Given the description of an element on the screen output the (x, y) to click on. 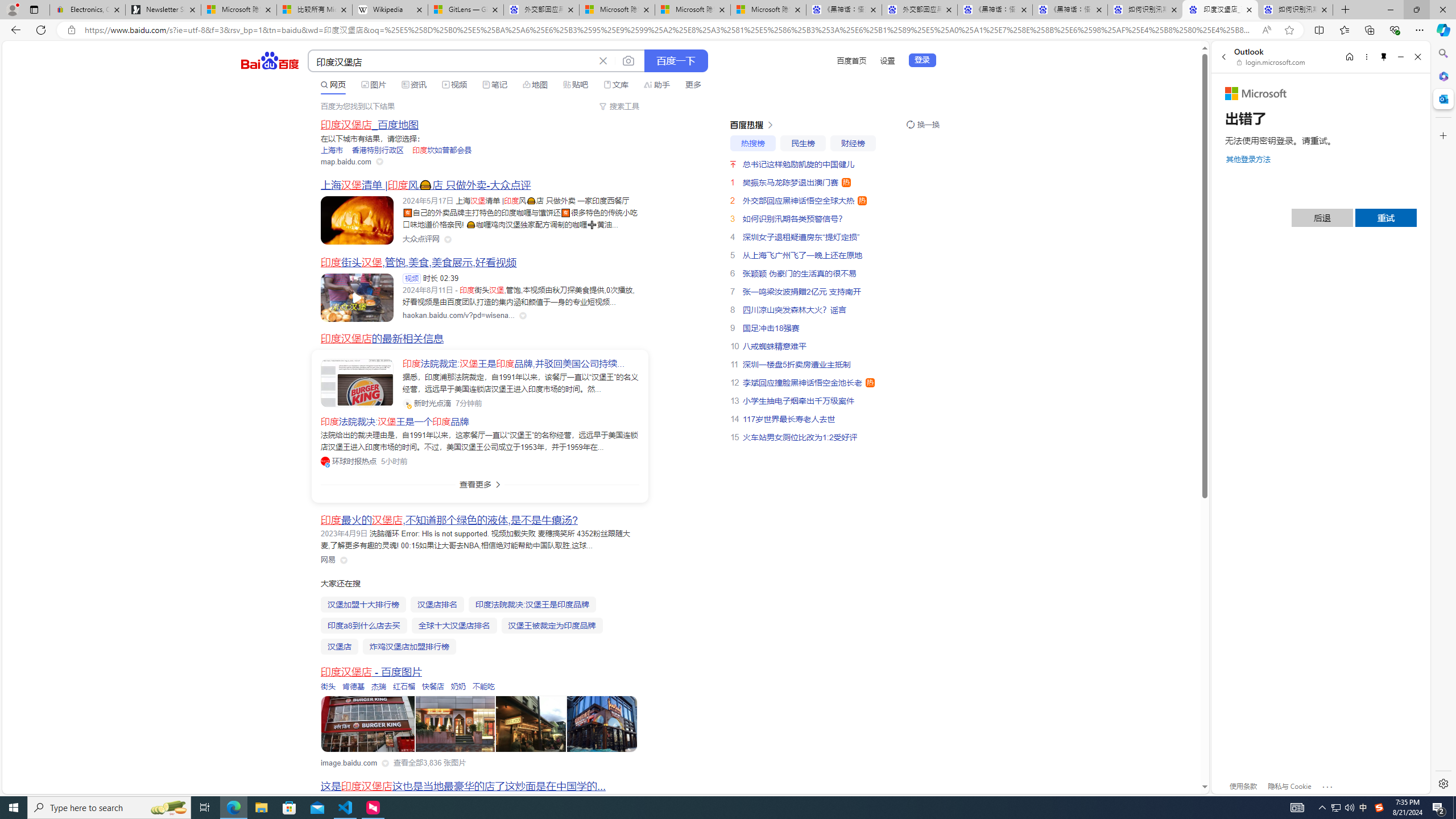
AutomationID: kw (451, 61)
